Given the description of an element on the screen output the (x, y) to click on. 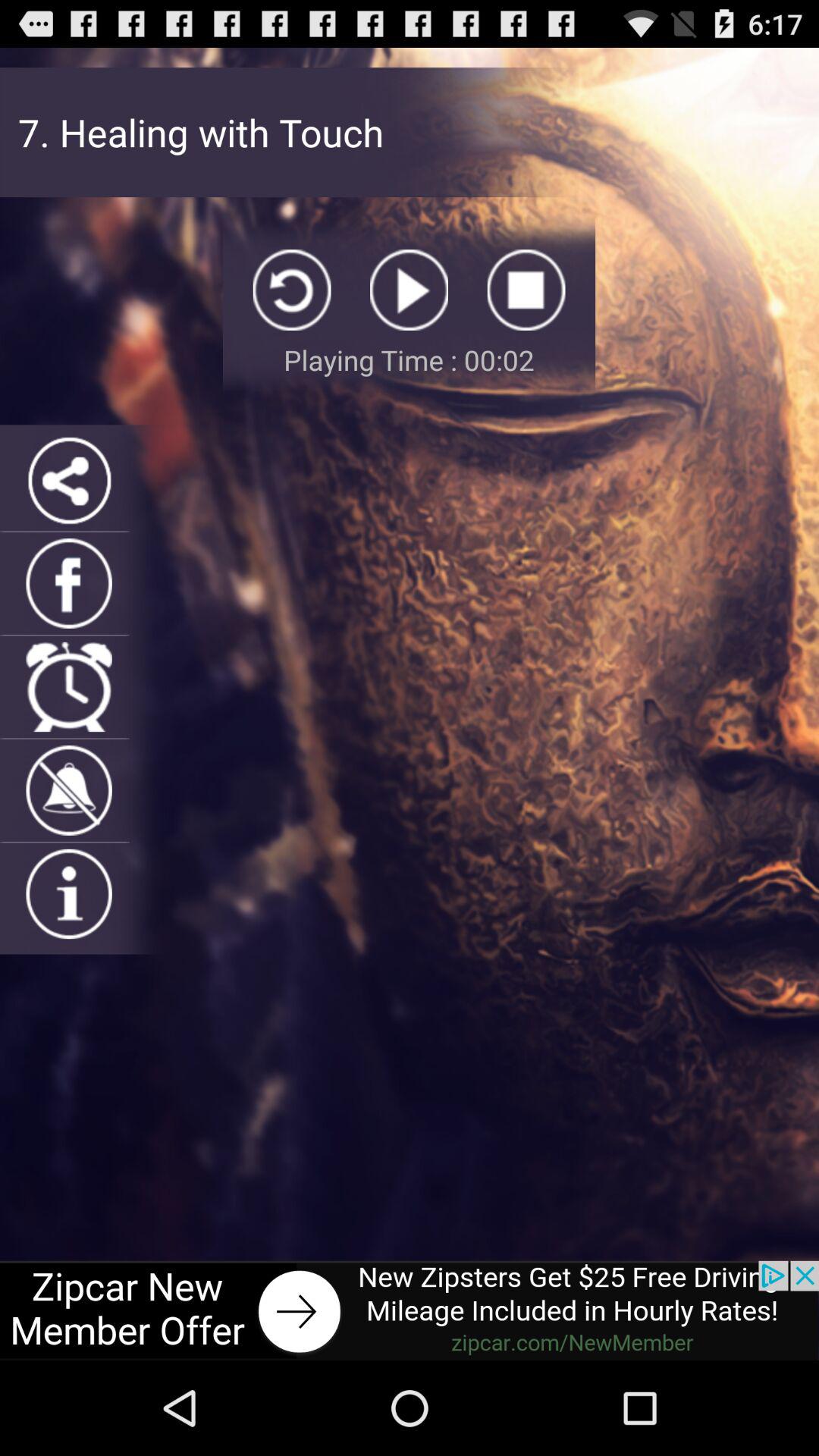
share the article (69, 479)
